Given the description of an element on the screen output the (x, y) to click on. 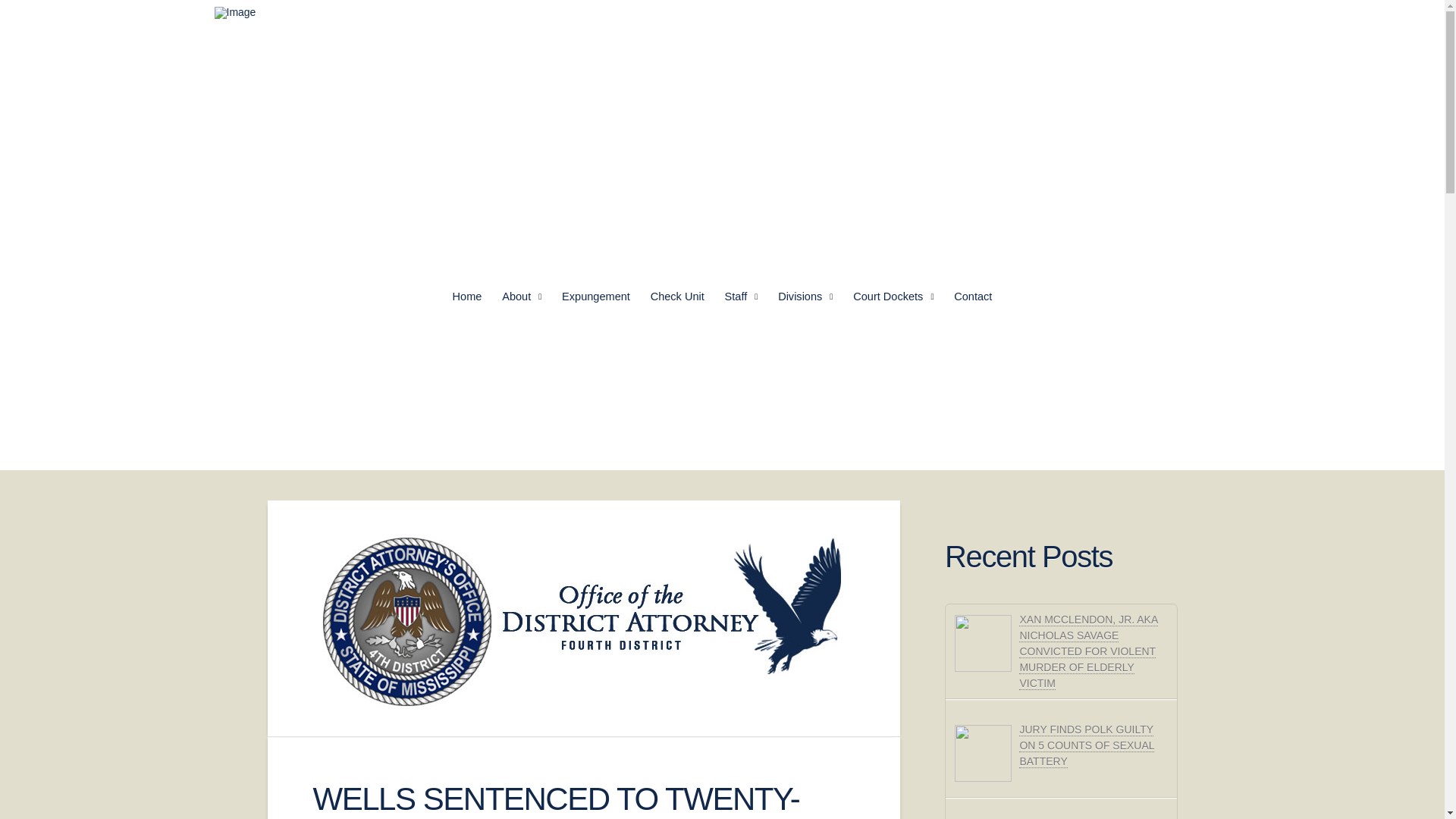
About (521, 296)
Divisions (805, 296)
Home (467, 296)
Staff (741, 296)
Expungement (595, 296)
Check Unit (677, 296)
